Given the description of an element on the screen output the (x, y) to click on. 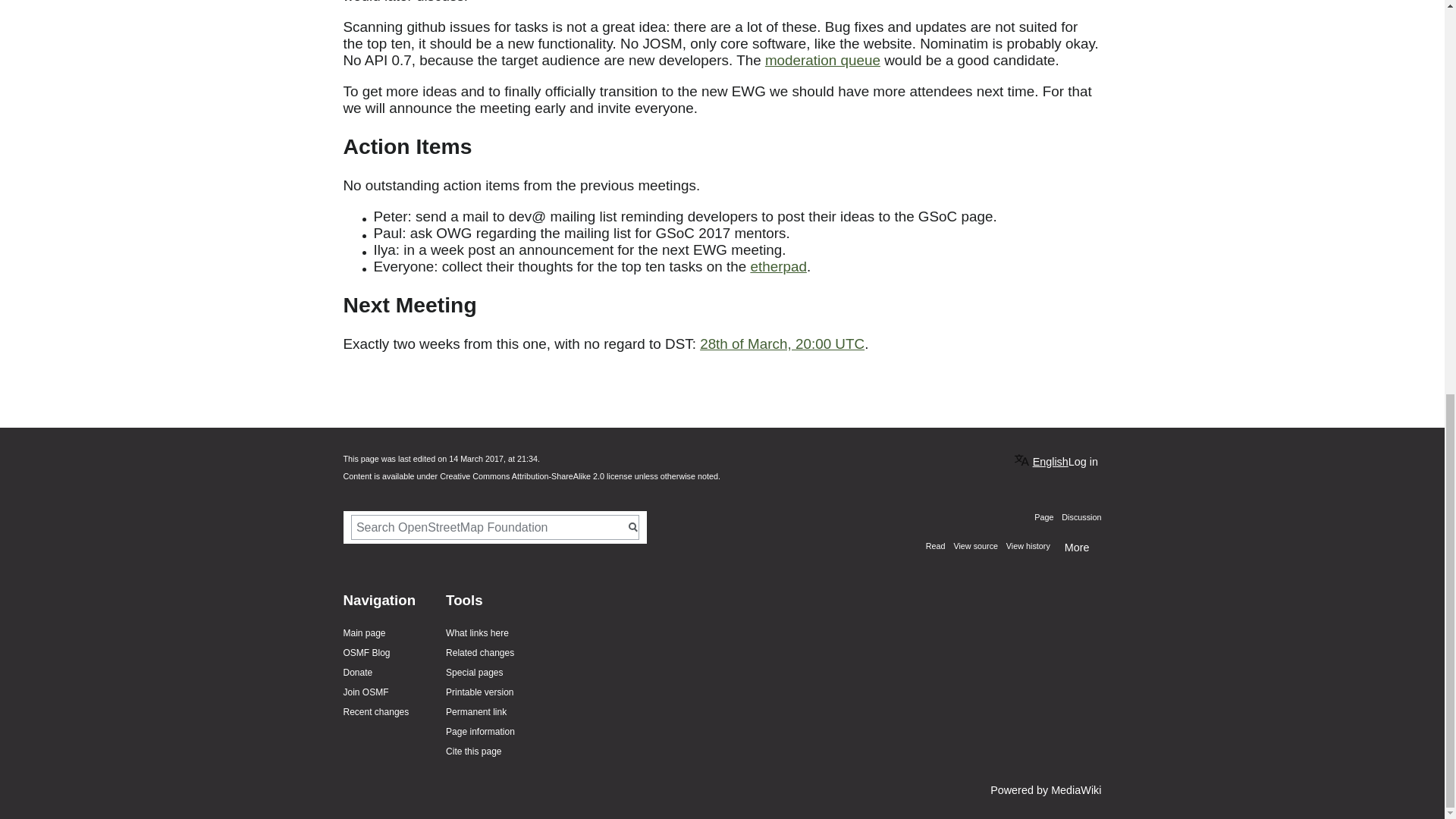
Creative Commons Attribution-ShareAlike 2.0 license (535, 475)
English (1041, 458)
etherpad (777, 266)
Discussion (1078, 516)
Log in (1082, 461)
moderation queue (822, 59)
Read (935, 545)
Page (1042, 516)
Main page (363, 633)
Recent changes (375, 711)
